Given the description of an element on the screen output the (x, y) to click on. 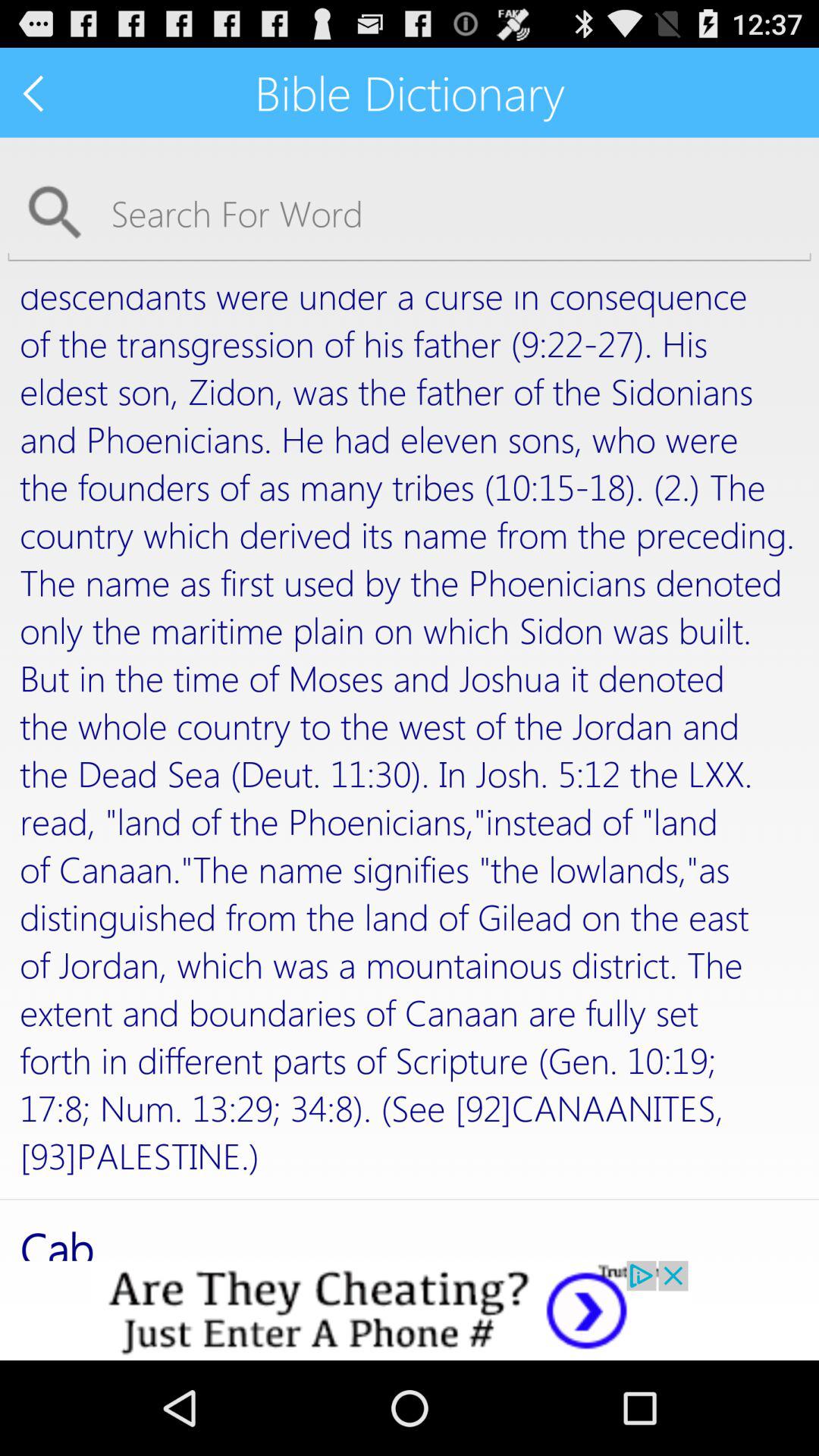
go to serach (409, 213)
